Given the description of an element on the screen output the (x, y) to click on. 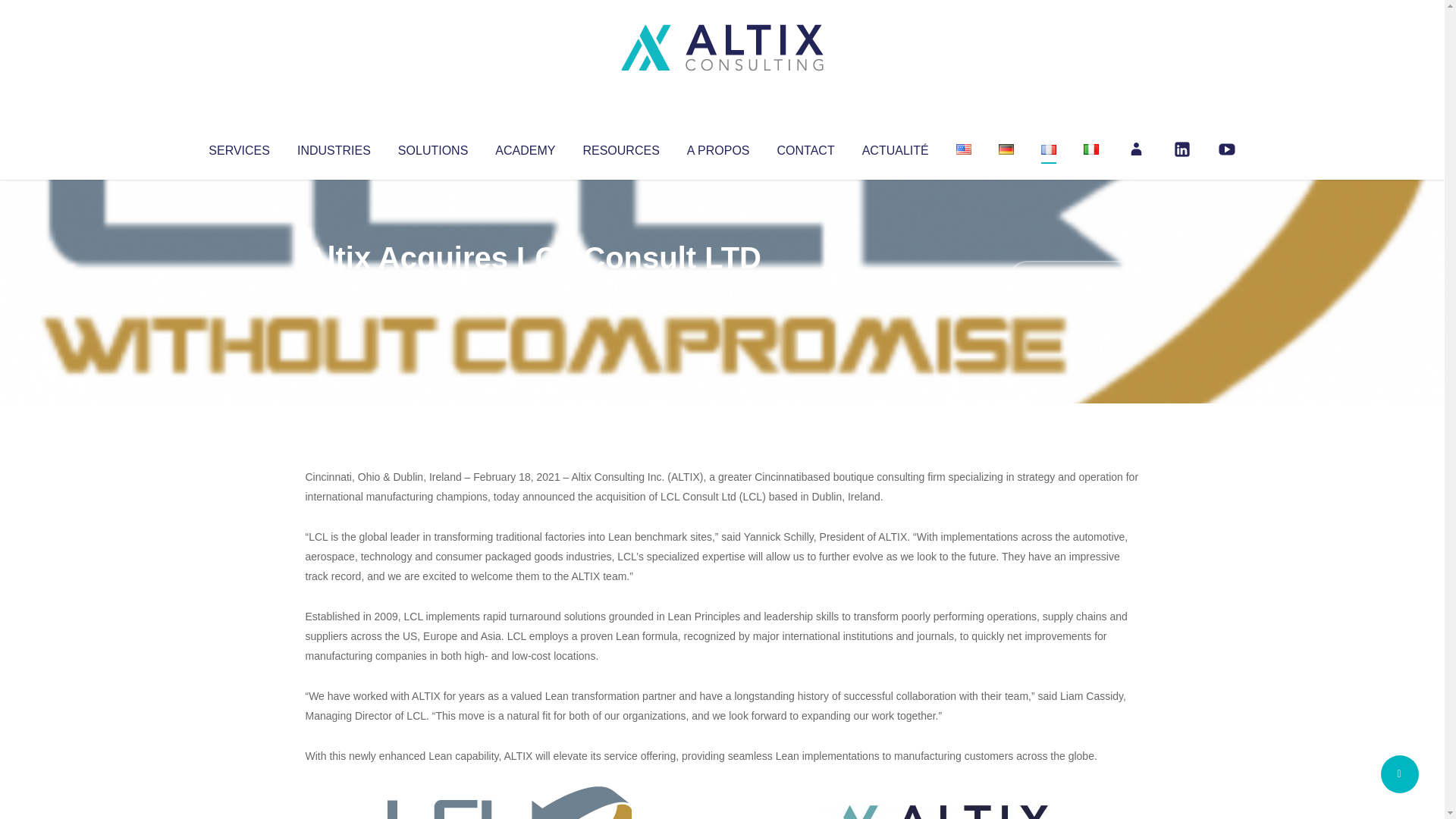
No Comments (1073, 278)
INDUSTRIES (334, 146)
A PROPOS (718, 146)
Altix (333, 287)
Uncategorized (530, 287)
ACADEMY (524, 146)
SOLUTIONS (432, 146)
SERVICES (238, 146)
RESOURCES (620, 146)
Articles par Altix (333, 287)
